Given the description of an element on the screen output the (x, y) to click on. 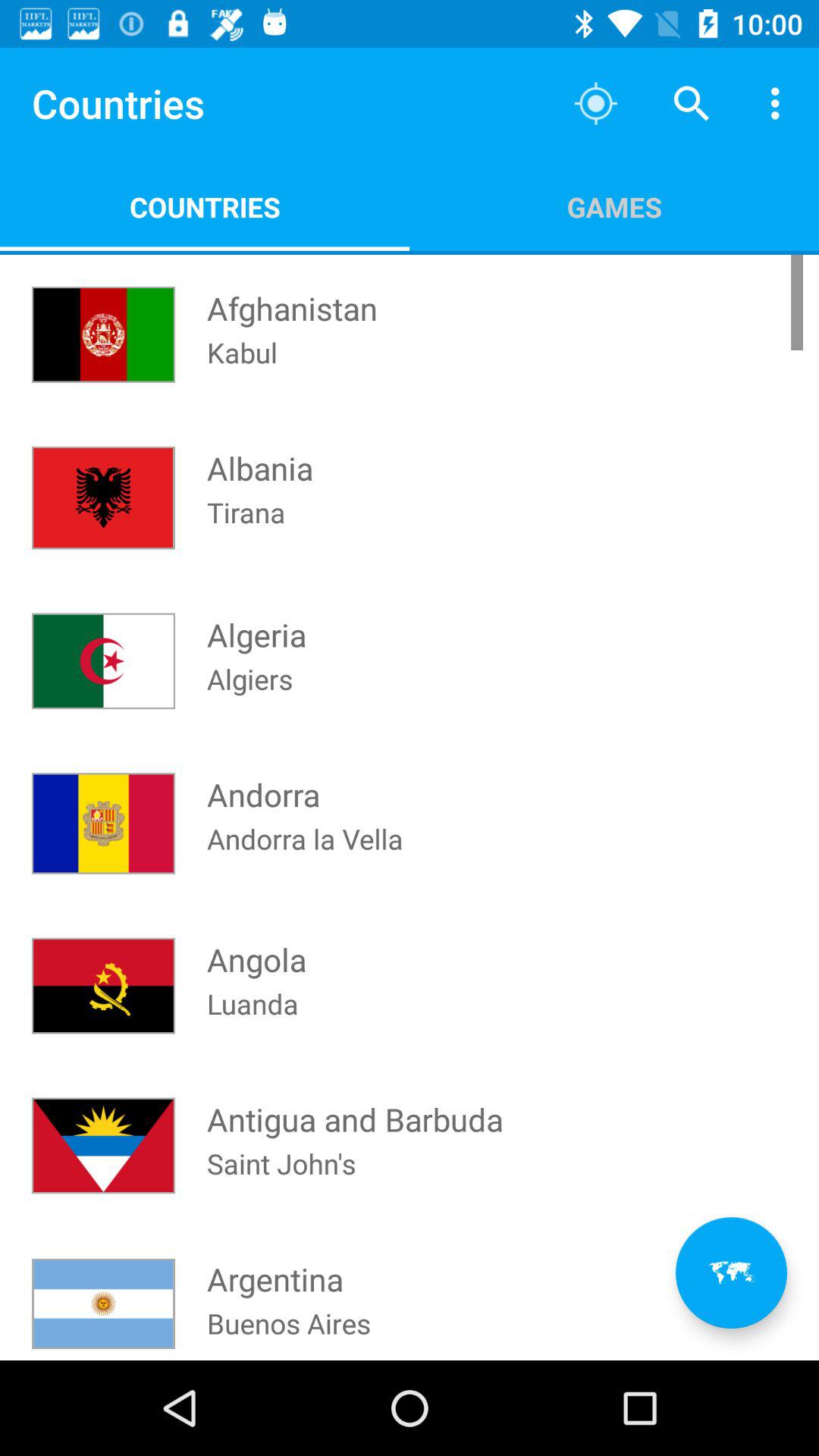
turn off the icon below antigua and barbuda icon (281, 1183)
